Given the description of an element on the screen output the (x, y) to click on. 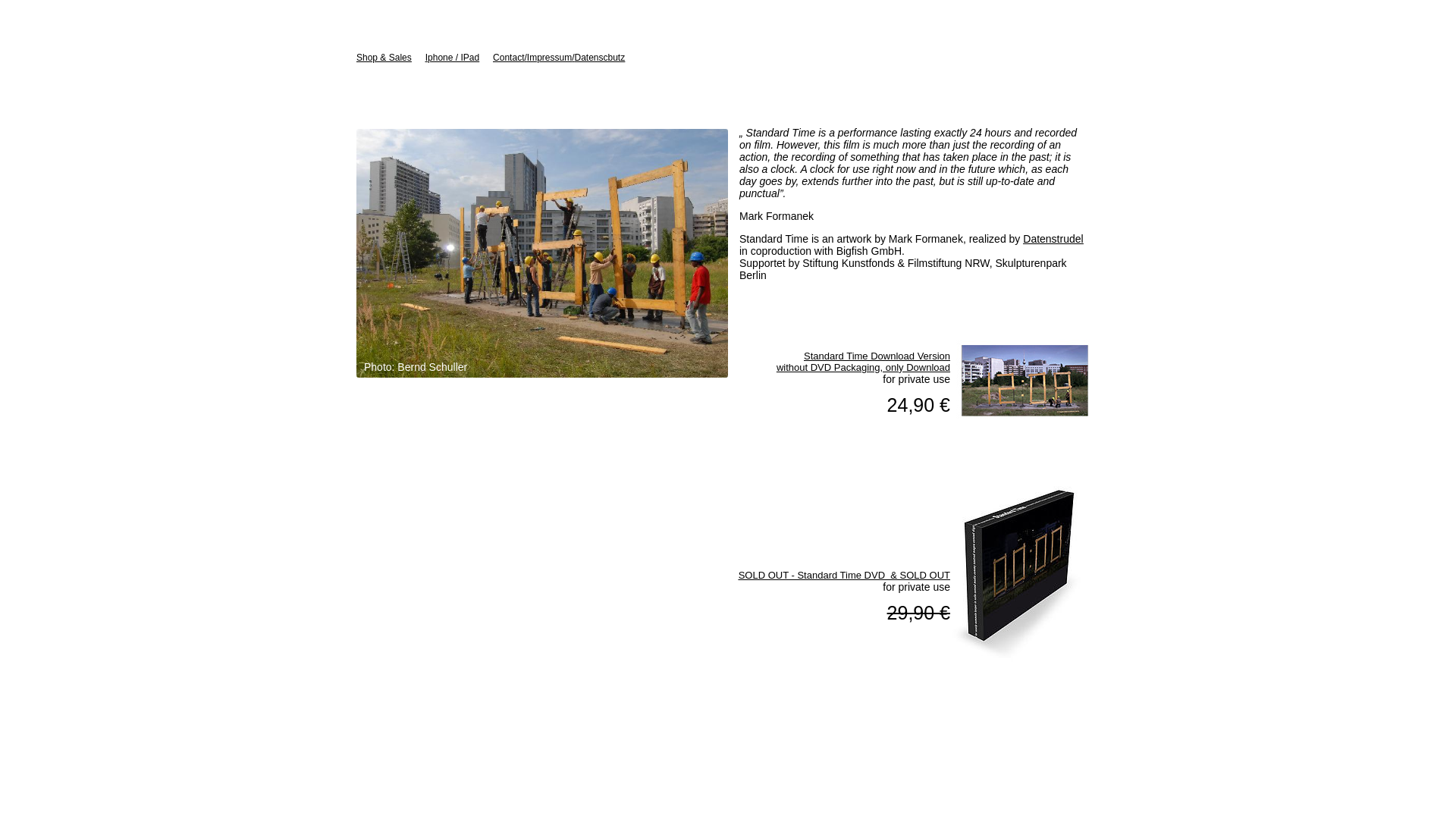
Contact (508, 57)
Impressum (549, 57)
Datenstrudel (1053, 238)
Datenscbutz (600, 57)
